Given the description of an element on the screen output the (x, y) to click on. 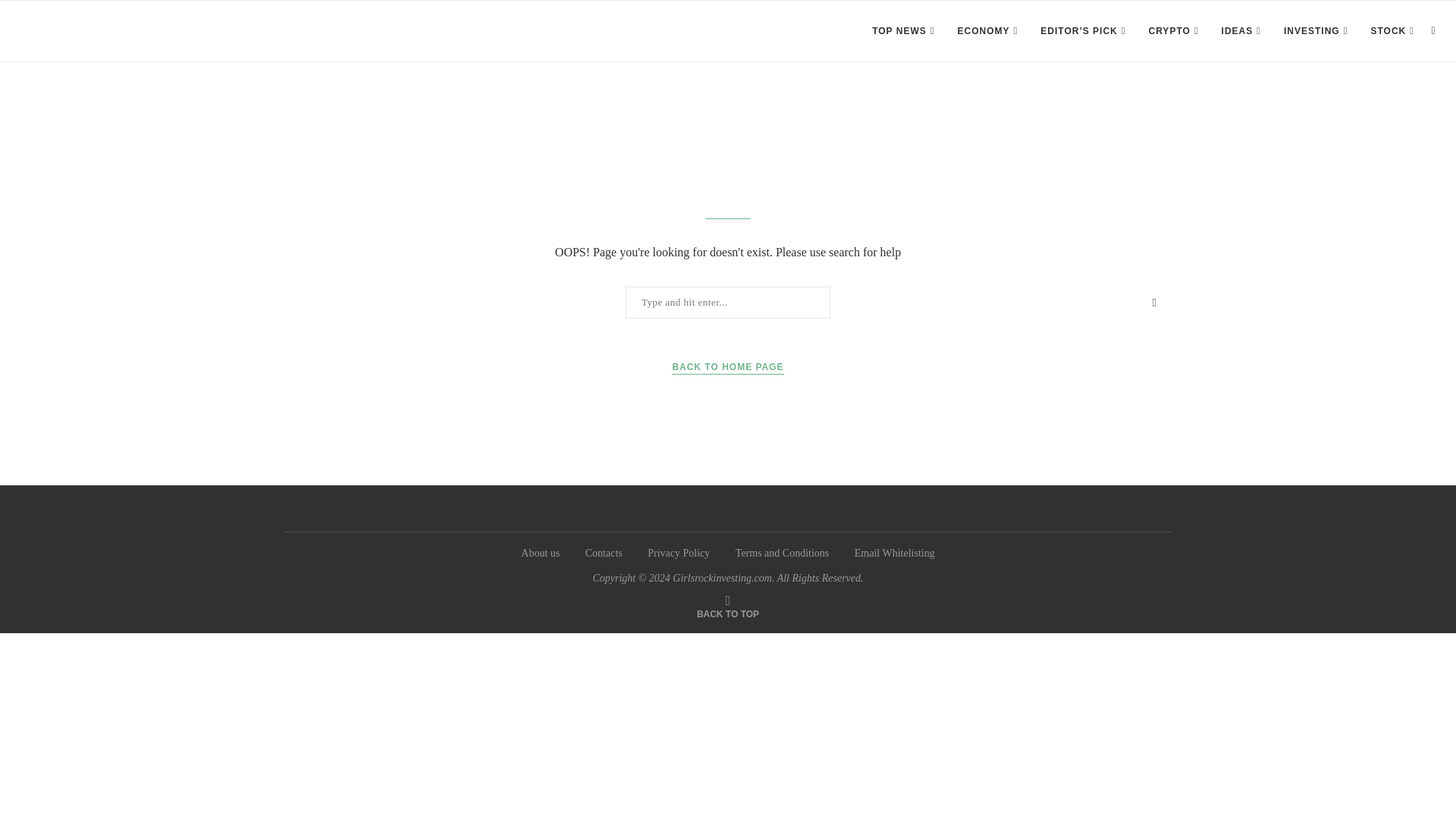
TOP NEWS (903, 30)
ECONOMY (986, 30)
